Given the description of an element on the screen output the (x, y) to click on. 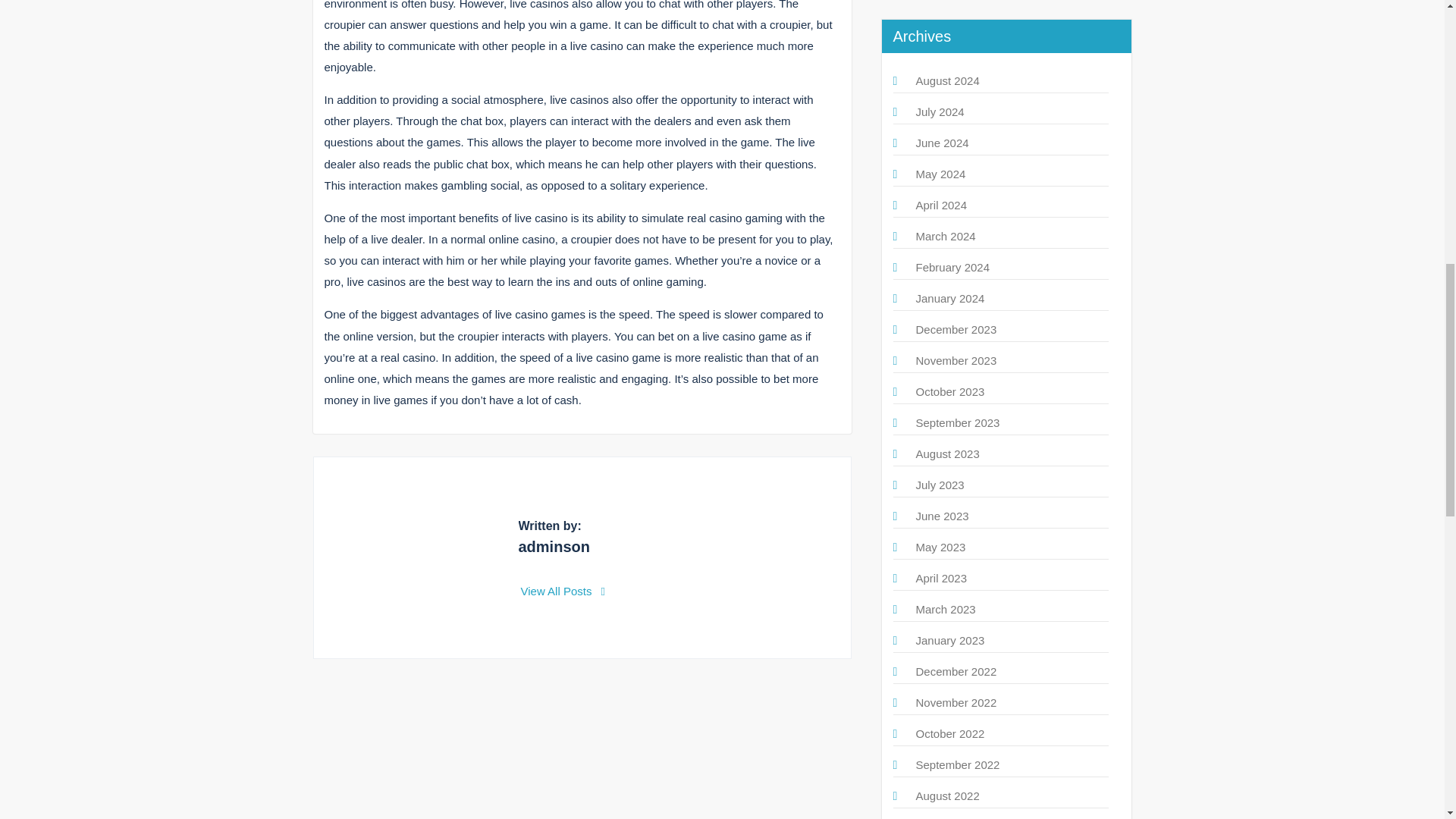
May 2023 (940, 546)
September 2023 (957, 422)
December 2023 (956, 328)
October 2022 (950, 733)
November 2023 (956, 359)
January 2023 (950, 640)
January 2024 (950, 297)
February 2024 (952, 267)
March 2024 (945, 236)
April 2023 (941, 577)
November 2022 (956, 702)
September 2022 (957, 764)
June 2024 (942, 142)
View All Posts (562, 590)
April 2024 (941, 205)
